Given the description of an element on the screen output the (x, y) to click on. 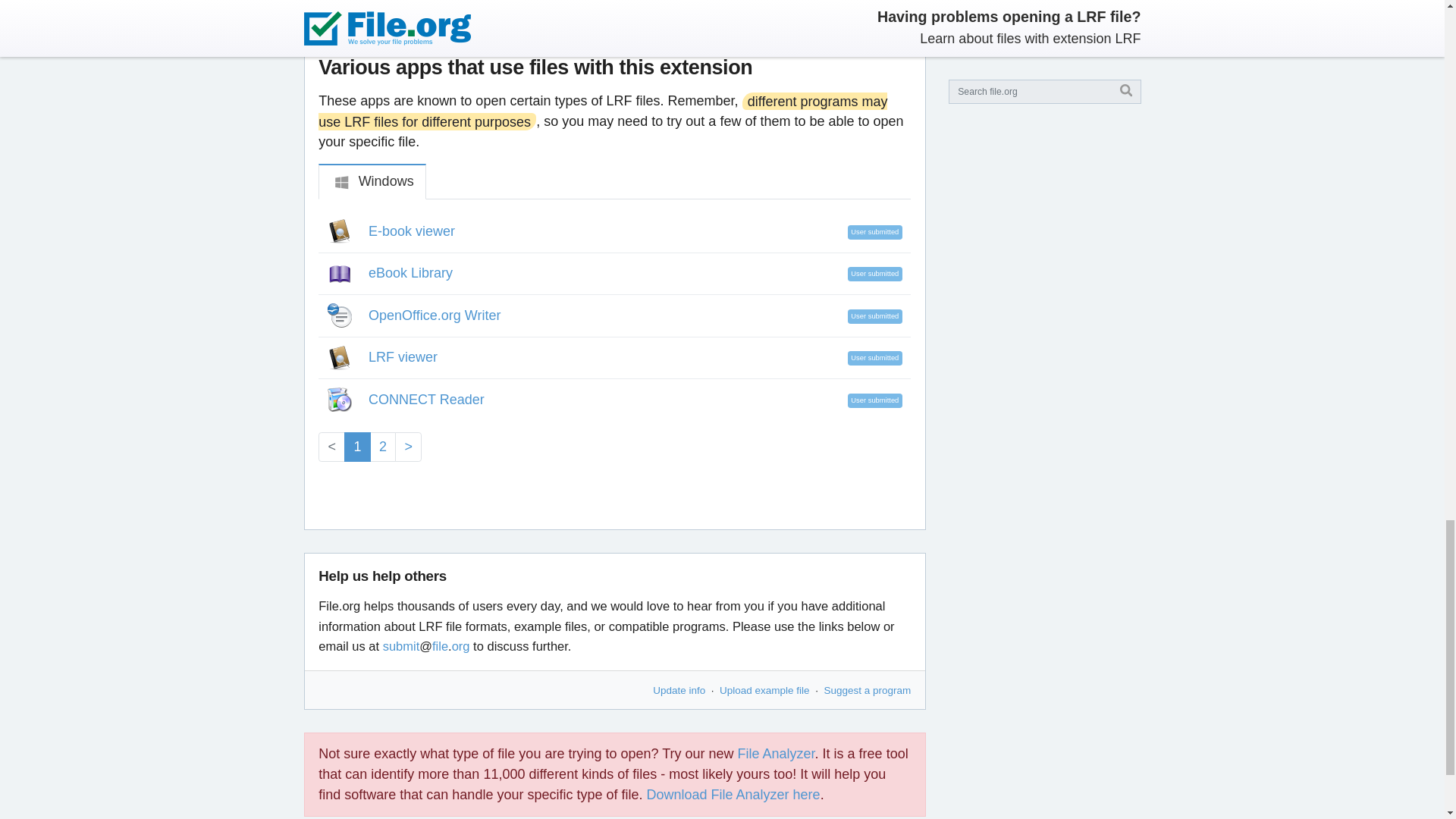
E-book viewer (411, 231)
LRF viewer (403, 356)
OpenOffice.org Writer (434, 314)
Download File Analyzer here (732, 794)
File Analyzer (776, 753)
Update info (678, 690)
Upload example file (764, 690)
eBook Library (410, 272)
CONNECT Reader (426, 399)
Suggest a program (867, 690)
